Given the description of an element on the screen output the (x, y) to click on. 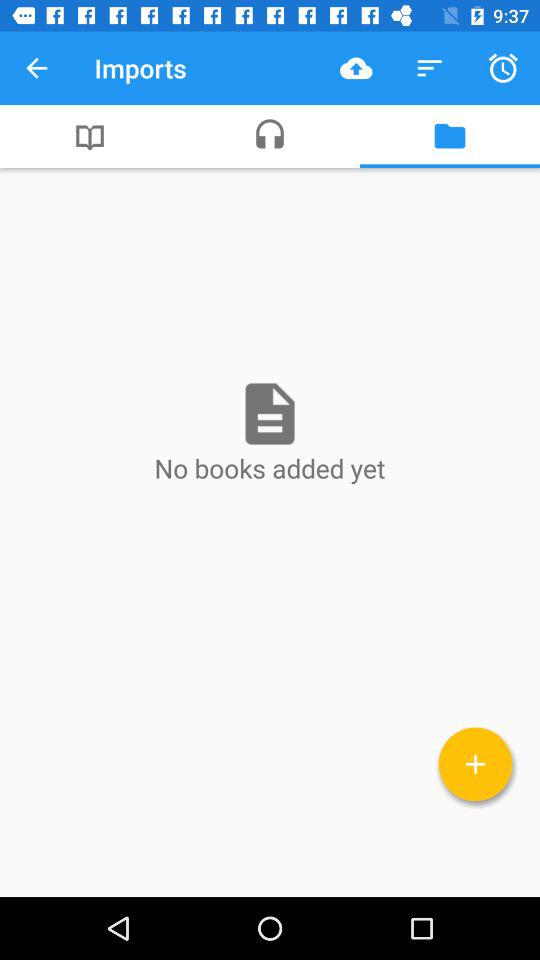
choose icon above the no books added icon (450, 136)
